Given the description of an element on the screen output the (x, y) to click on. 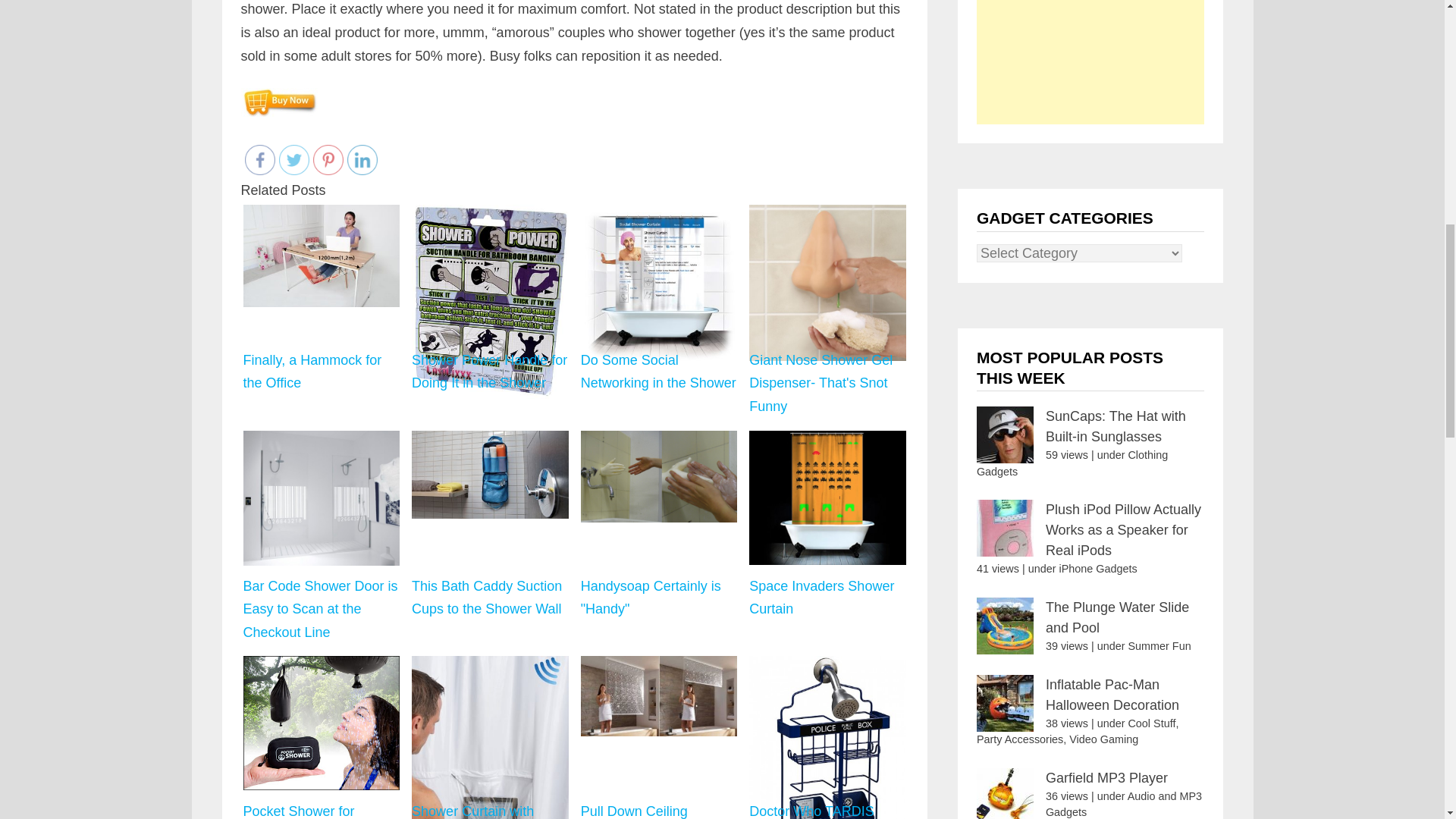
LinkedIn (362, 159)
Facebook (259, 159)
Bar Code Shower Door is Easy to Scan at the Checkout Line (320, 498)
Shower Curtain with Speakers and iPad Pocket (489, 736)
Pull Down Ceiling Mounted Shower Curtains (658, 736)
Do Some Social Networking in the Shower (659, 282)
Doctor Who TARDIS Shower Rack (827, 736)
This Bath Caddy Suction Cups to the Shower Wall (490, 474)
Pocket Shower for Backcountry Cleanliness (322, 736)
Giant Nose Shower Gel Dispenser- That's Snot Funny (827, 282)
buy now (279, 102)
Twitter (293, 159)
Pinterest (327, 159)
Finally, a Hammock for the Office (320, 255)
